Given the description of an element on the screen output the (x, y) to click on. 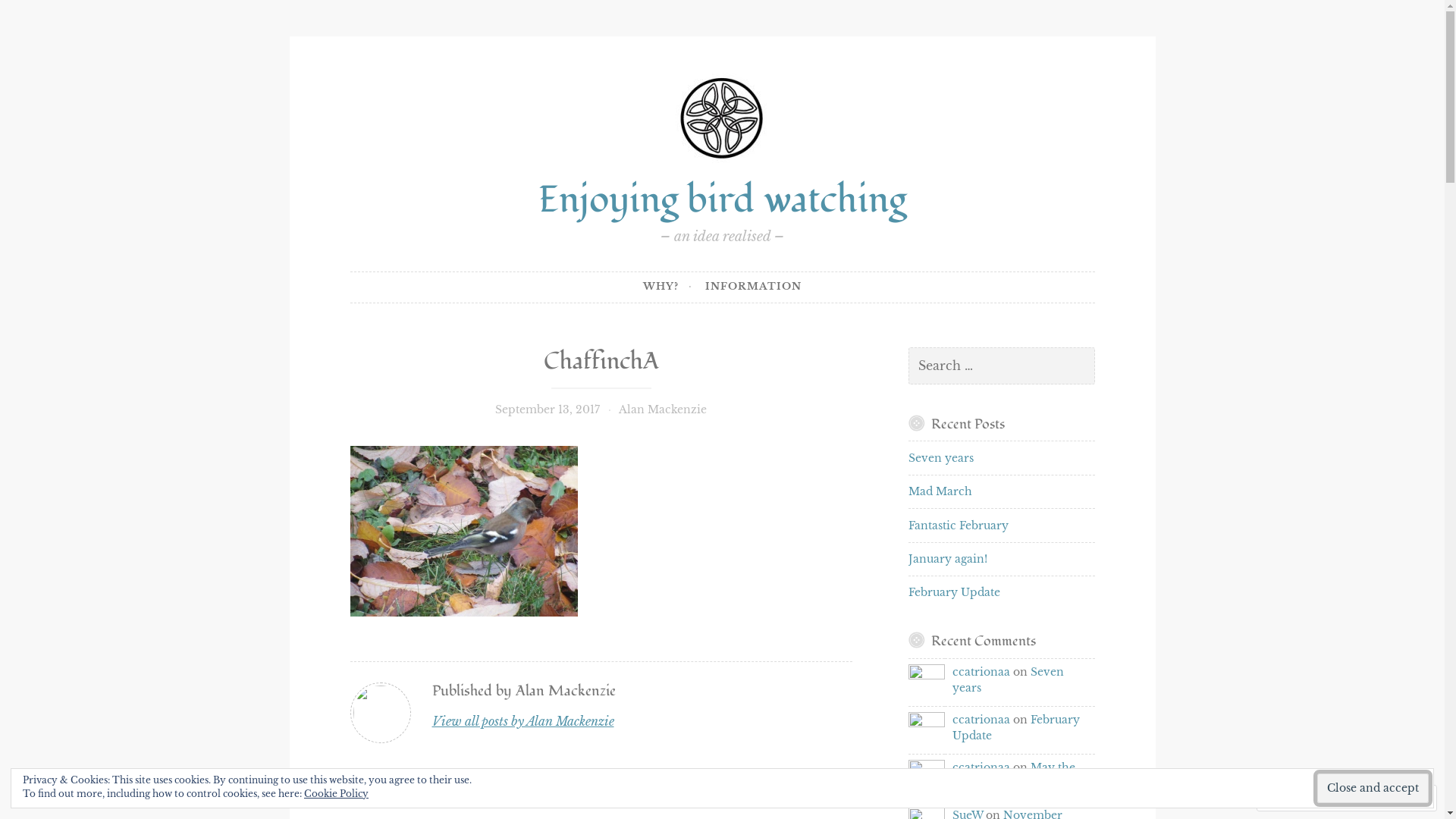
February Update Element type: text (954, 592)
View all posts by Alan Mackenzie Element type: text (523, 721)
Mad March Element type: text (940, 491)
Alan Mackenzie Element type: text (662, 409)
WHY? Element type: text (667, 287)
ccatrionaa Element type: hover (926, 777)
ccatrionaa Element type: hover (926, 682)
Search Element type: text (36, 14)
Close and accept Element type: text (1372, 788)
Fantastic February Element type: text (958, 525)
INFORMATION Element type: text (753, 287)
ccatrionaa Element type: text (981, 767)
Cookie Policy Element type: text (336, 793)
September 13, 2017 Element type: text (547, 409)
February Update Element type: text (1015, 727)
Comment Element type: text (1297, 797)
Seven years Element type: text (1007, 679)
Follow Element type: text (1373, 797)
ccatrionaa Element type: text (981, 671)
Enjoying bird watching Element type: text (722, 199)
ccatrionaa Element type: text (981, 719)
Seven years Element type: text (940, 457)
January again! Element type: text (947, 558)
ccatrionaa Element type: hover (926, 729)
